Given the description of an element on the screen output the (x, y) to click on. 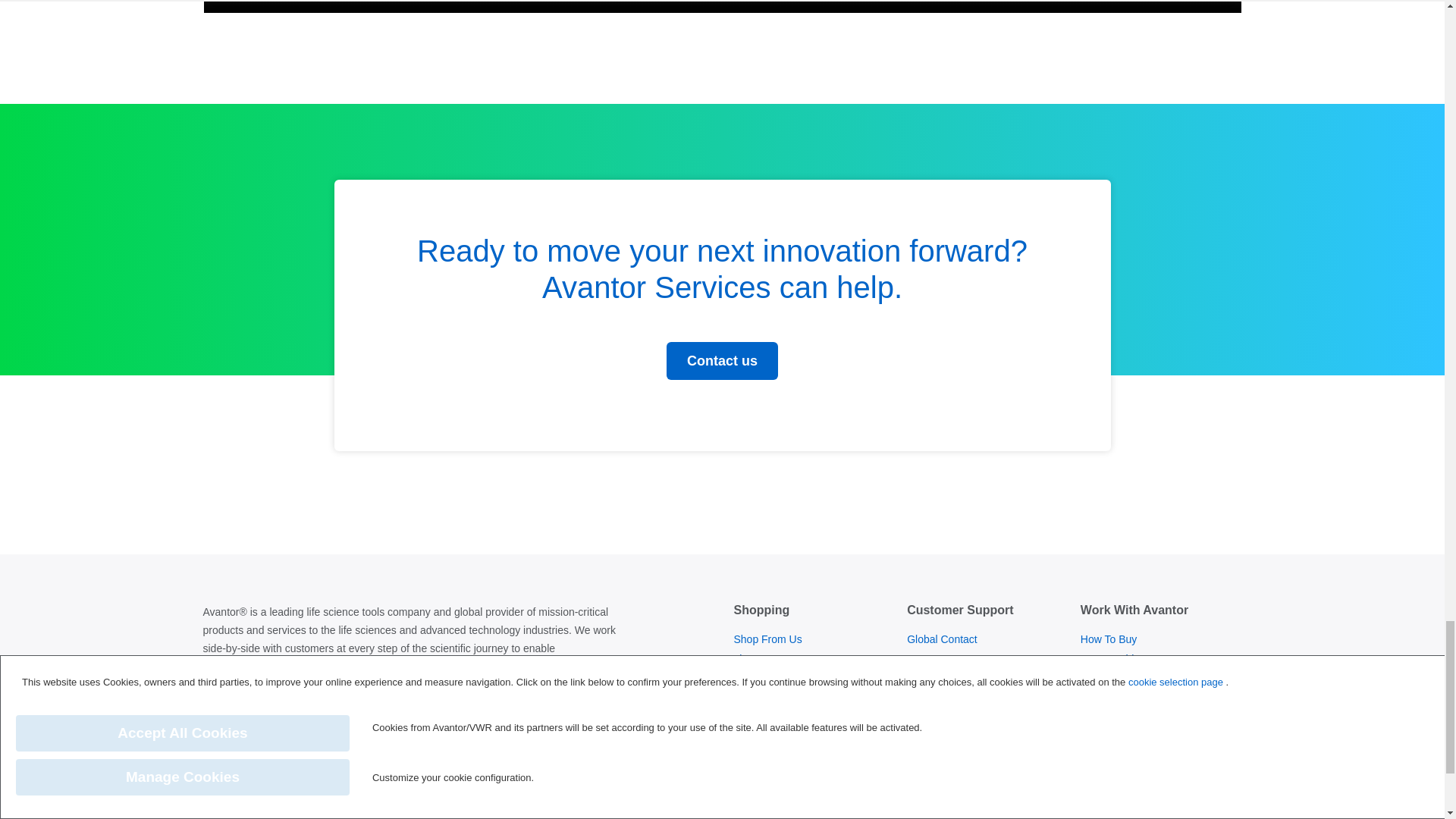
News (746, 770)
How To Sell (1108, 678)
Contact us (721, 361)
Literature (755, 659)
Global Contact (941, 639)
Find a Channel Partner (1135, 698)
Ethics Helpline (941, 678)
Shop From Us (767, 639)
How To Buy (1108, 639)
LinkedIn (221, 721)
How To Ship (1110, 659)
Facebook (334, 721)
Returns (925, 659)
Financials (756, 790)
